Given the description of an element on the screen output the (x, y) to click on. 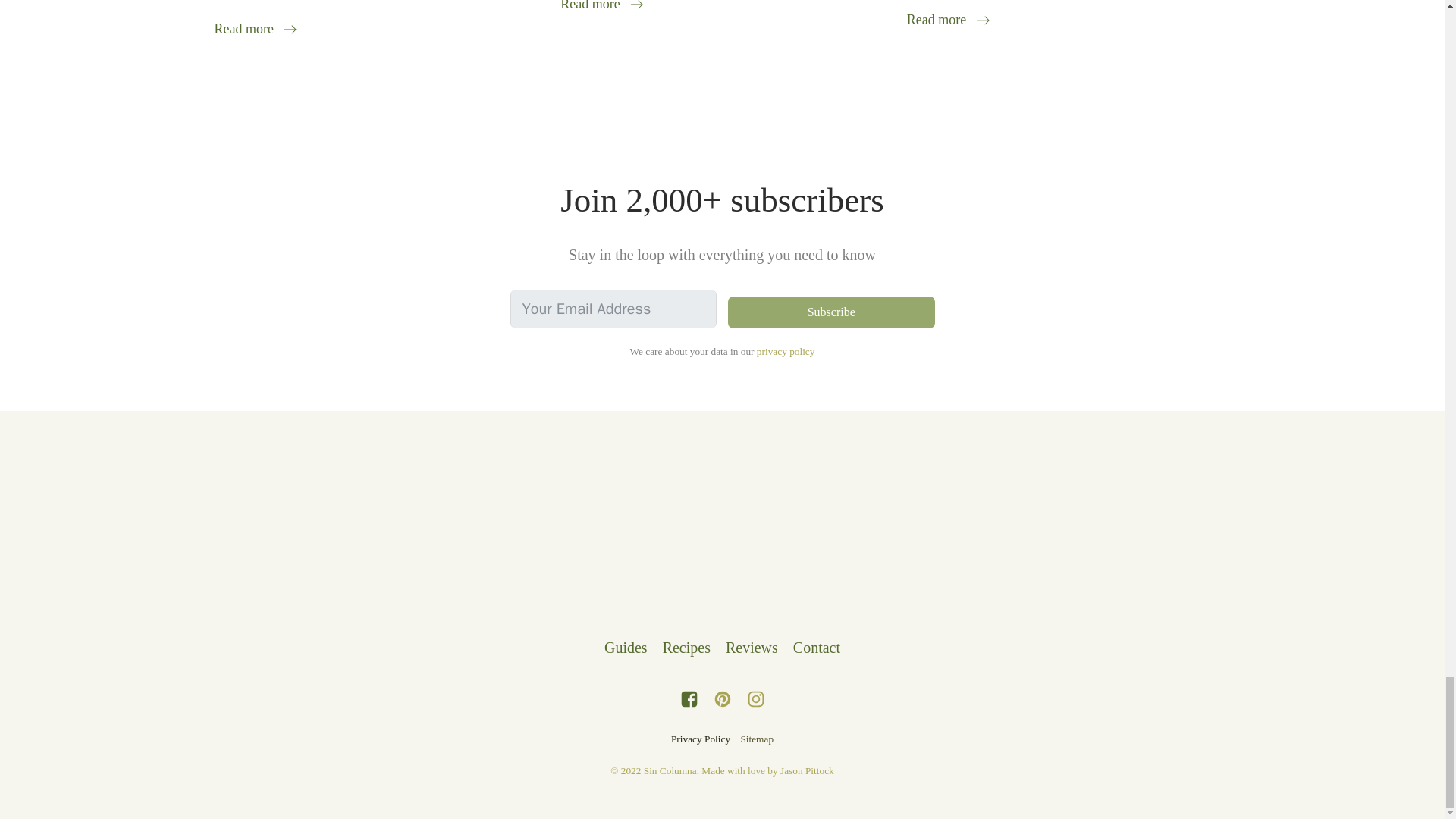
privacy policy (786, 351)
Subscribe (831, 312)
Read more (255, 29)
Read more (601, 7)
Read more (948, 20)
